Given the description of an element on the screen output the (x, y) to click on. 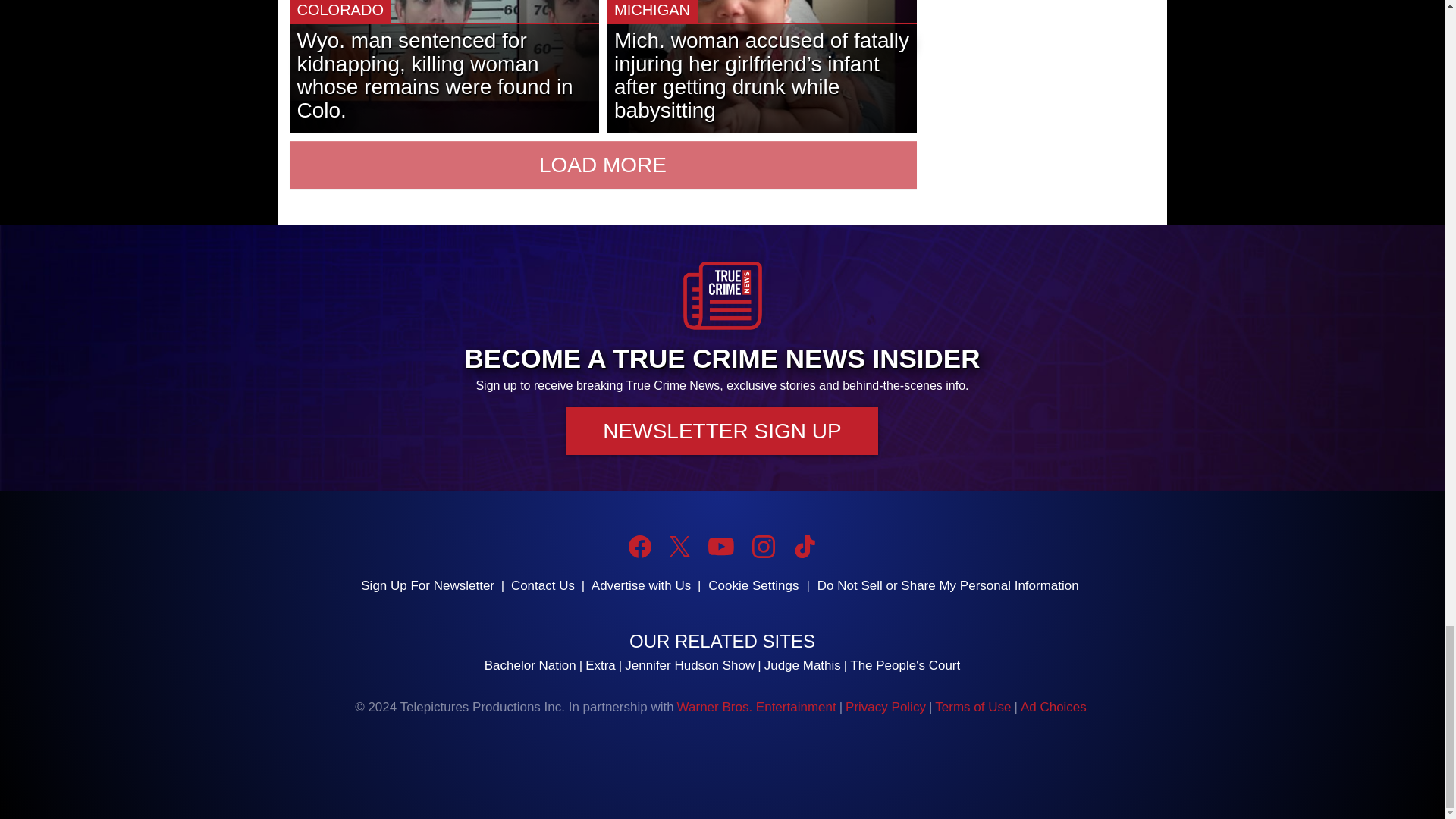
Instagram (763, 546)
TikTok (804, 546)
YouTube (720, 546)
Facebook (639, 546)
Twitter (679, 546)
